Given the description of an element on the screen output the (x, y) to click on. 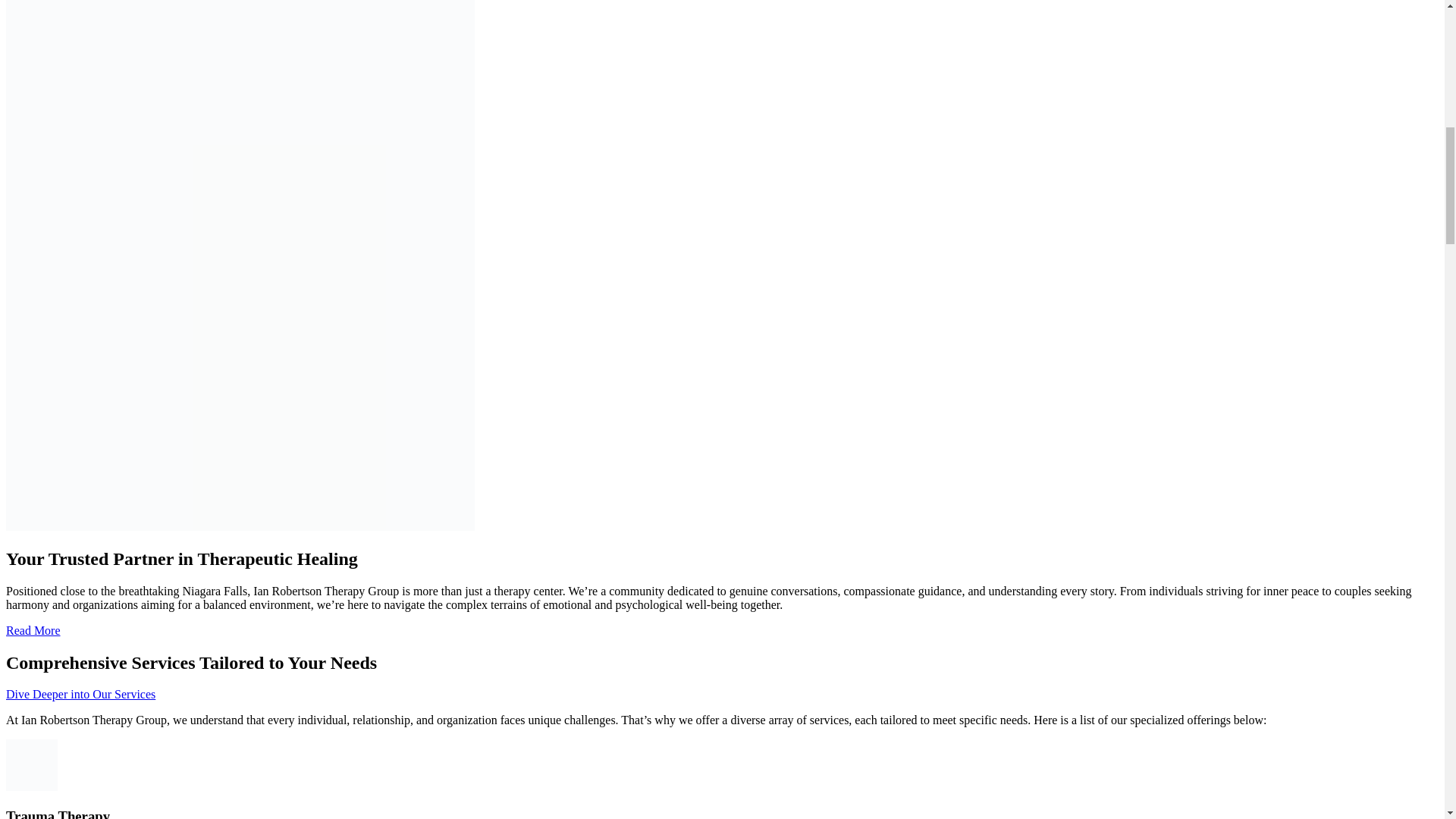
Trauma Therapy Icon (31, 765)
Dive Deeper into Our Services (80, 694)
Read More (33, 630)
